Given the description of an element on the screen output the (x, y) to click on. 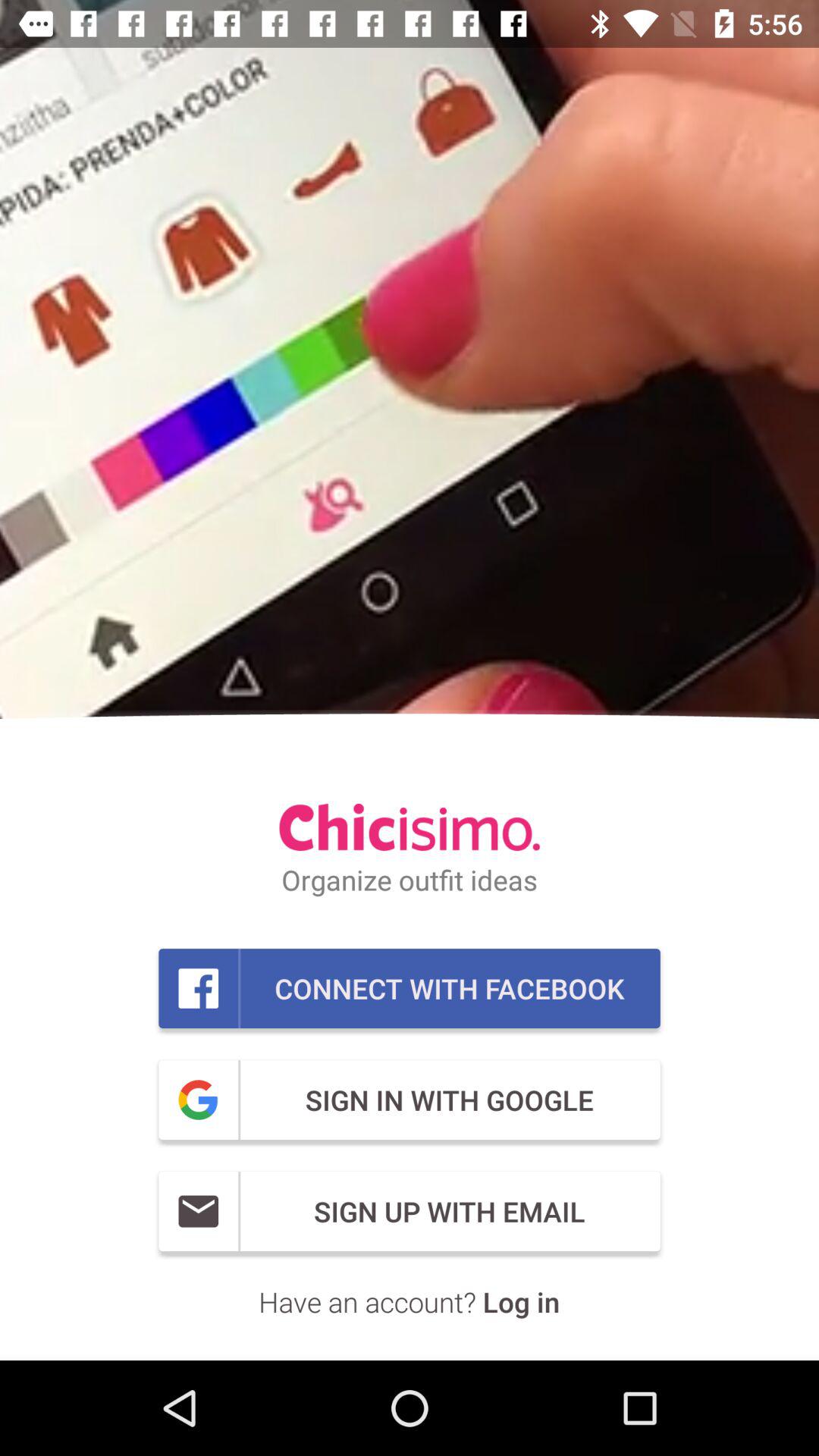
press item below sign up with (408, 1301)
